Given the description of an element on the screen output the (x, y) to click on. 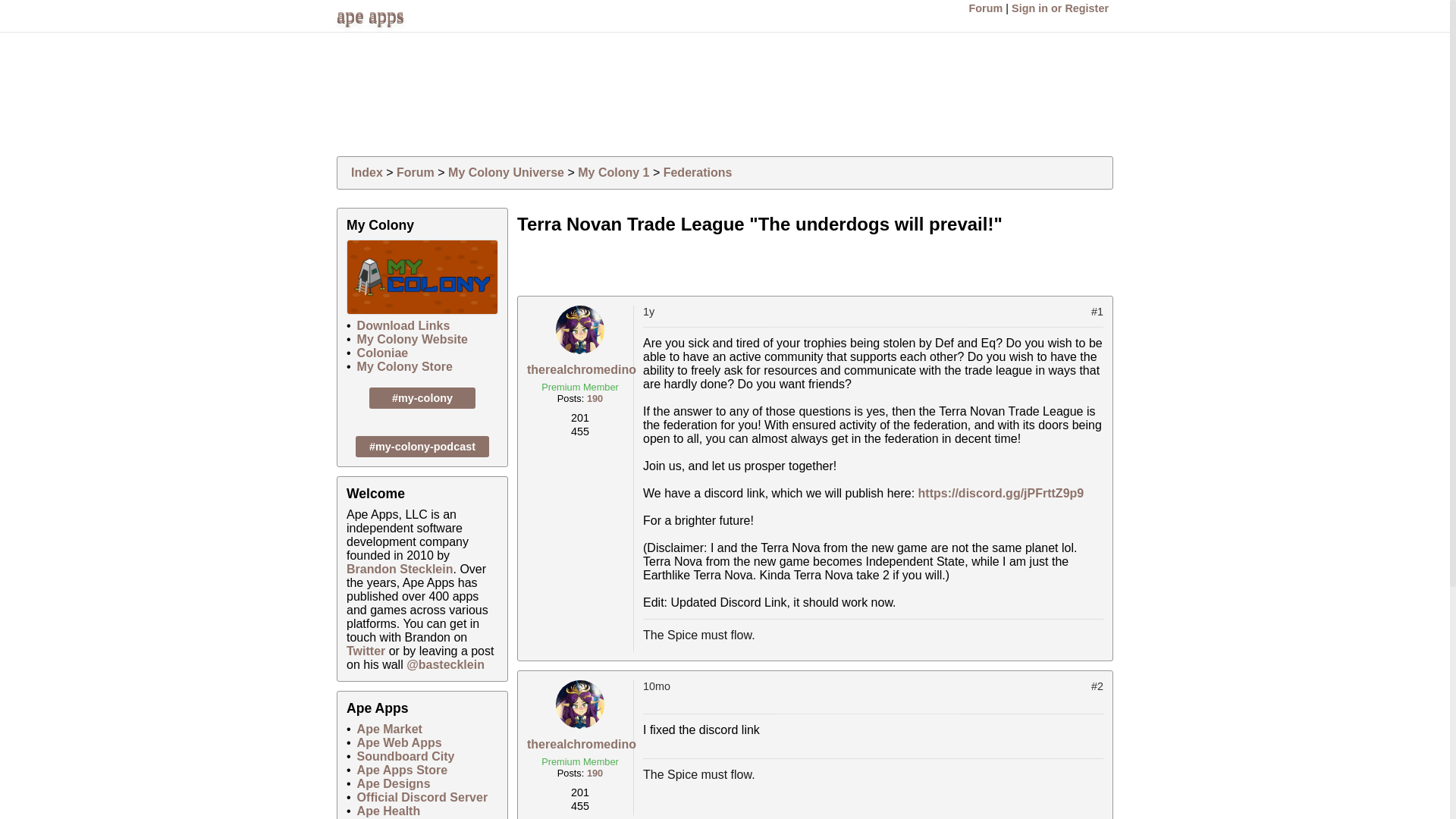
Sign in or Register (1059, 8)
Forum (986, 8)
Official Discord Server (421, 797)
Soundboard City (405, 756)
Achievements (580, 432)
My Colony 1 (613, 172)
My Colony (421, 276)
Ape Web Apps (399, 742)
My Colony Universe (506, 172)
190 (594, 398)
2023-09-17 19:21:45 (866, 692)
Ape Designs (393, 783)
therealchromedino (581, 744)
190 (594, 772)
Ape Apps Store (401, 769)
